Given the description of an element on the screen output the (x, y) to click on. 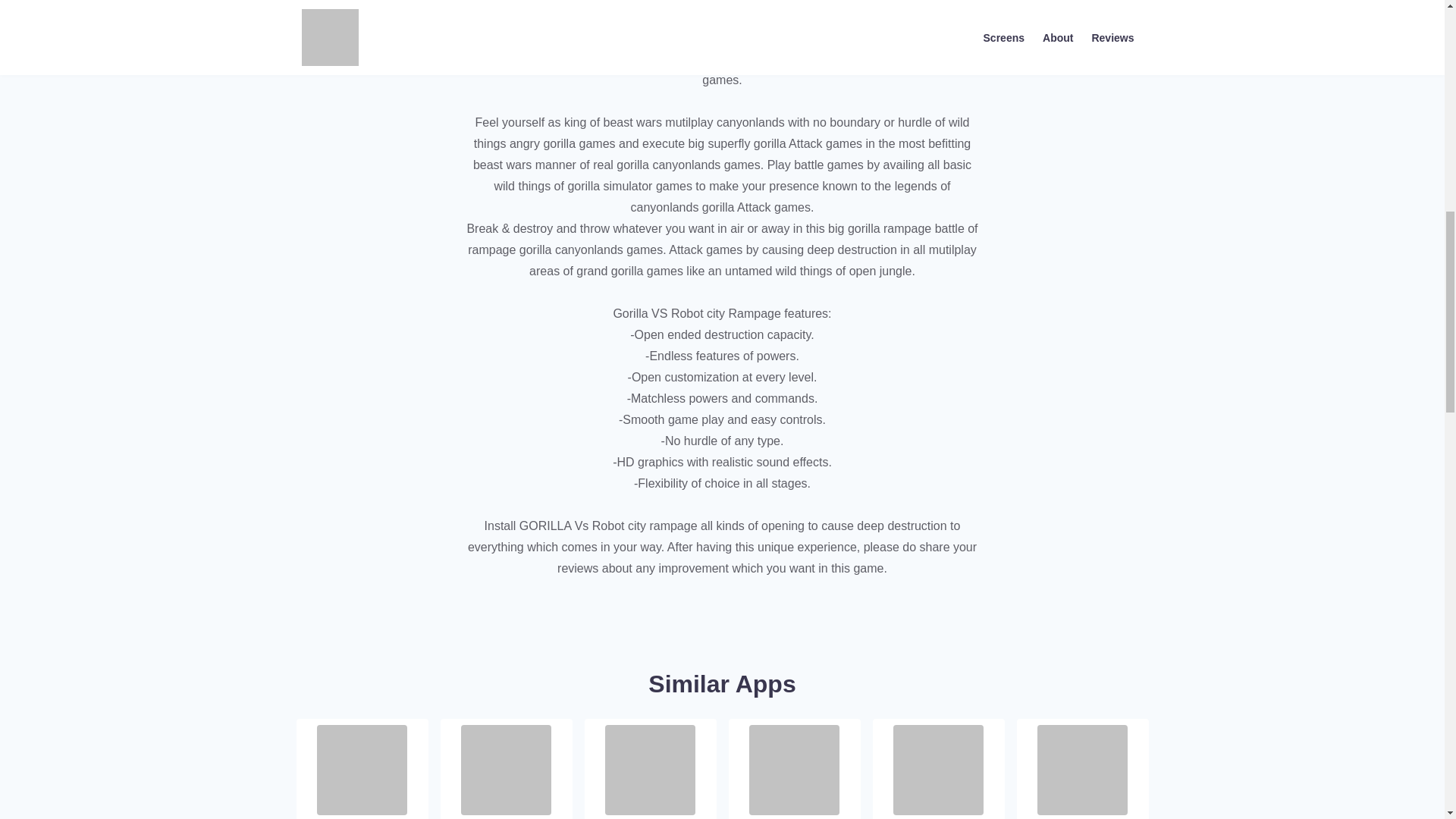
Red button: do not disturb (650, 767)
Zombies Ranch. Zombie shooting (938, 767)
Arrow 3D - Archery Games (506, 767)
Little princess play house (362, 767)
In Truck Driving: Euro Truck (1081, 767)
Freeze the Spider - Pull the P (794, 767)
